Given the description of an element on the screen output the (x, y) to click on. 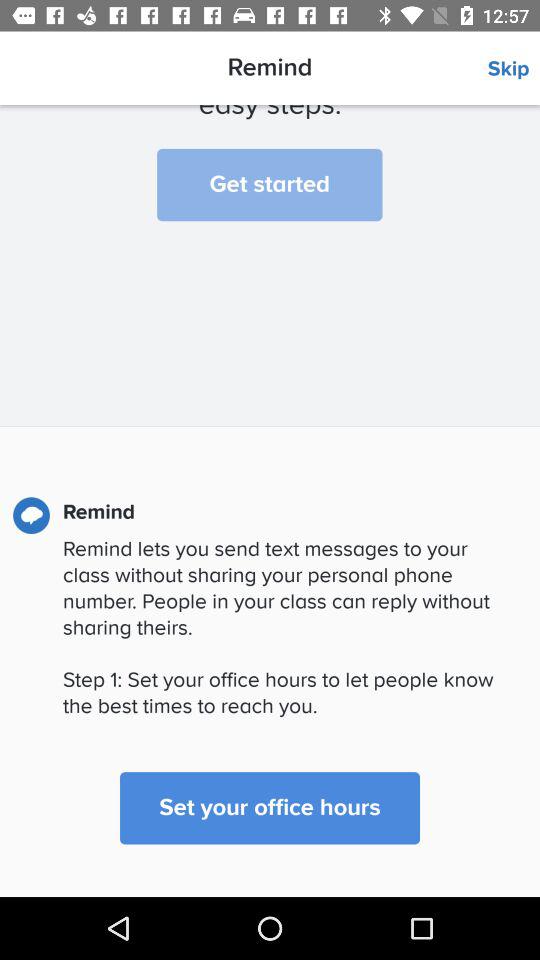
launch icon to the right of the remind (513, 69)
